Given the description of an element on the screen output the (x, y) to click on. 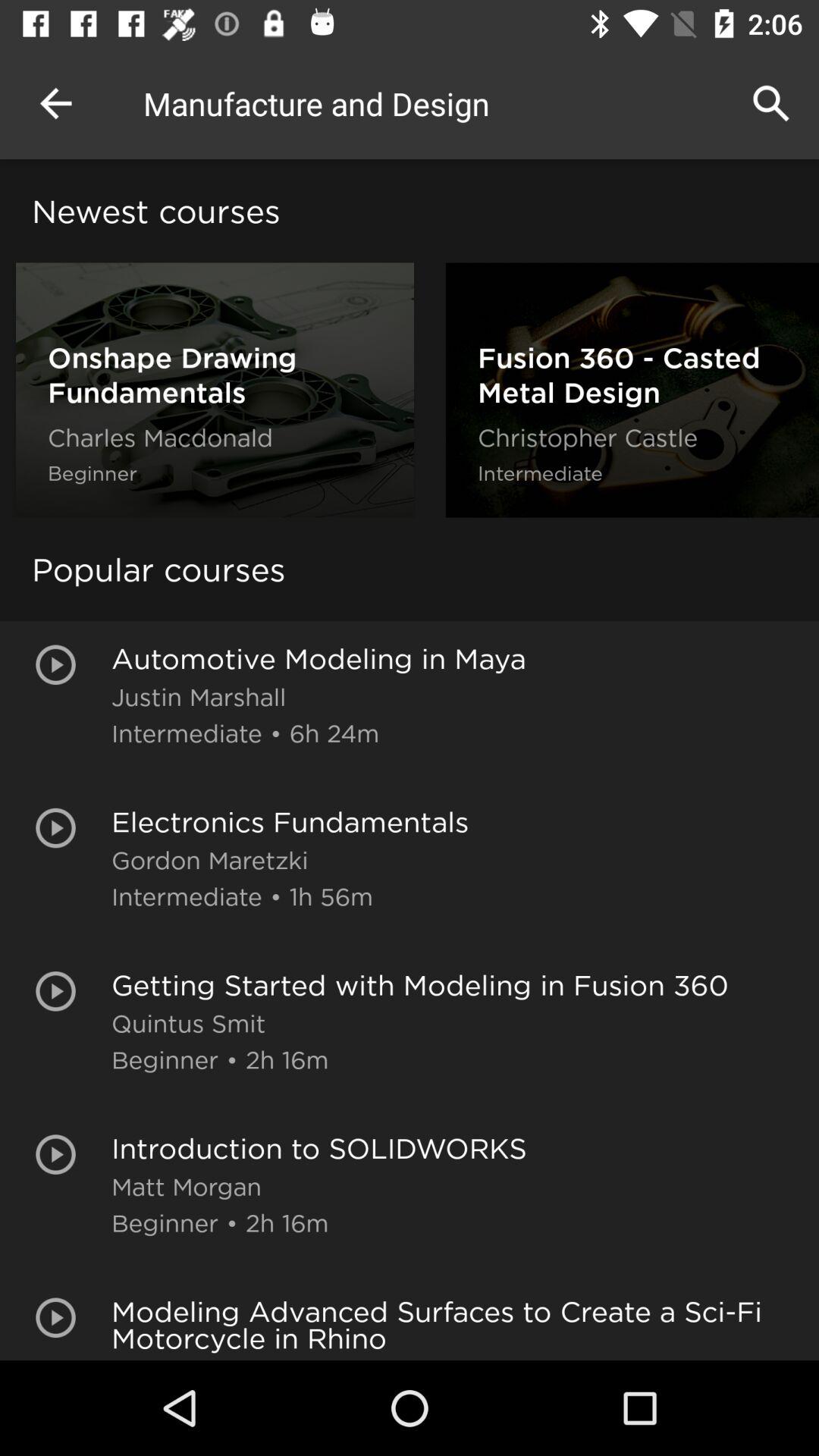
click the icon next to manufacture and design item (771, 103)
